Given the description of an element on the screen output the (x, y) to click on. 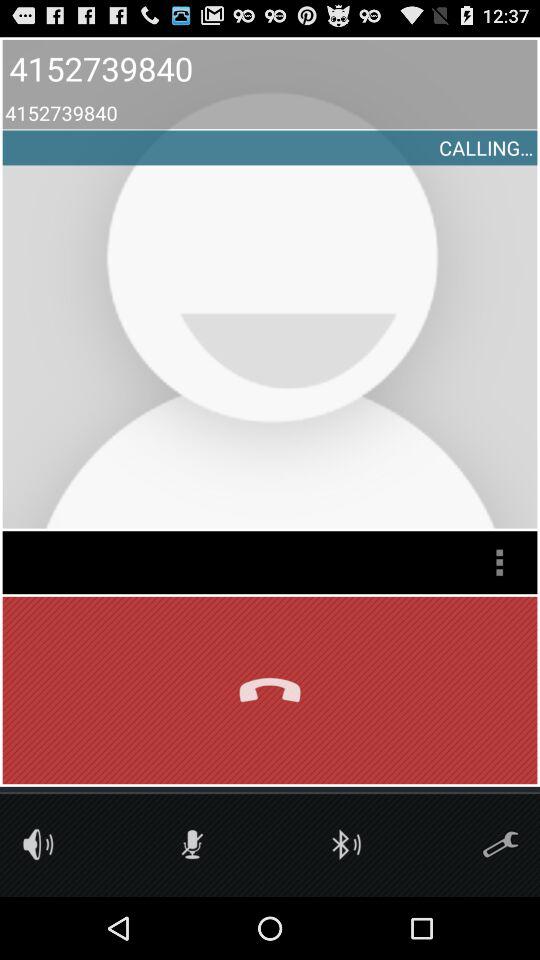
press the sound button (38, 844)
